Given the description of an element on the screen output the (x, y) to click on. 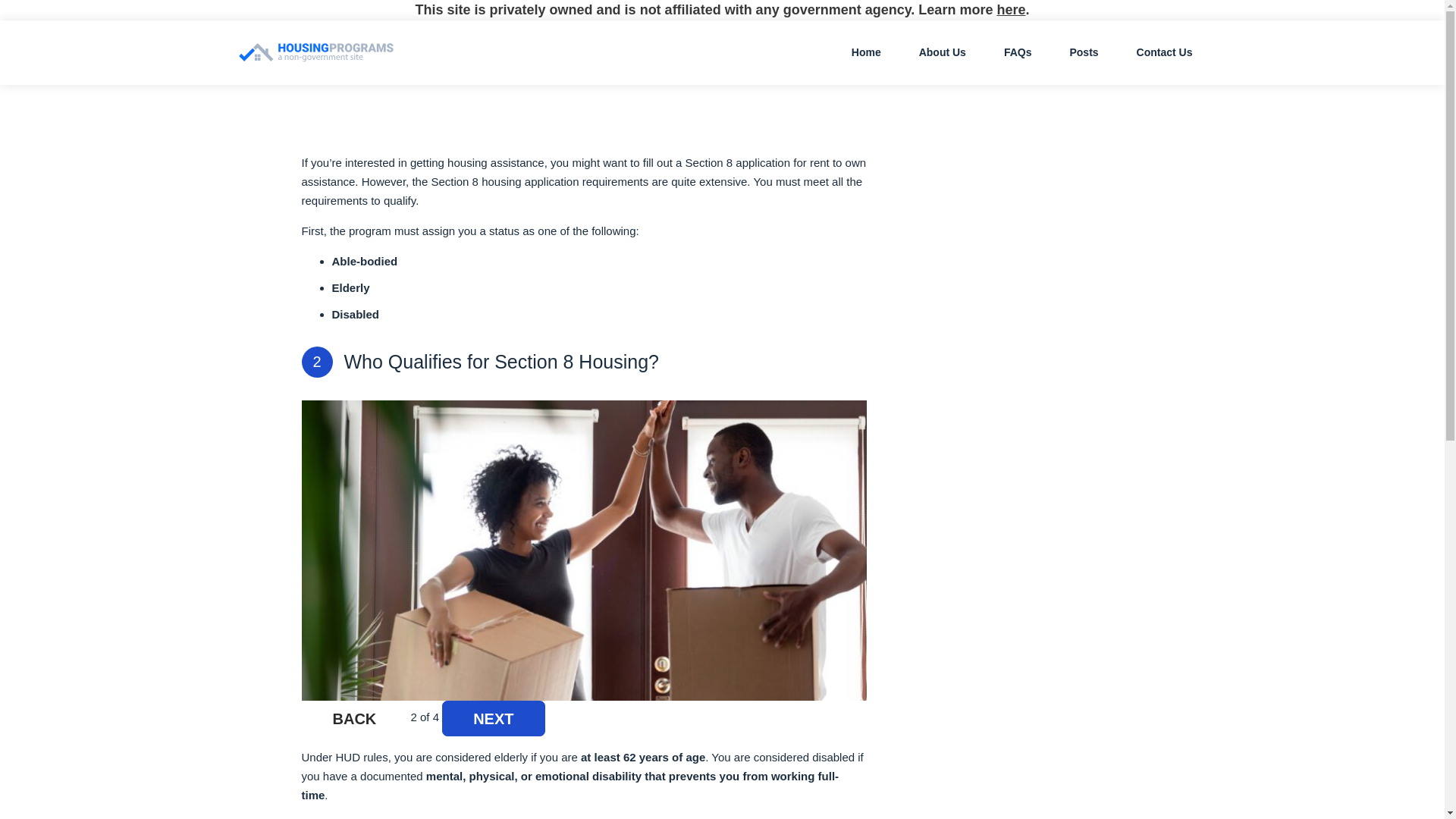
NEXT (493, 718)
Contact Us (1164, 52)
Home (866, 52)
Posts (1083, 52)
Contact Us (1164, 52)
Posts (1083, 52)
Home (866, 52)
About Us (942, 52)
FAQs (1017, 52)
About Us (942, 52)
BACK (354, 718)
FAQs (1017, 52)
here (1010, 9)
